Given the description of an element on the screen output the (x, y) to click on. 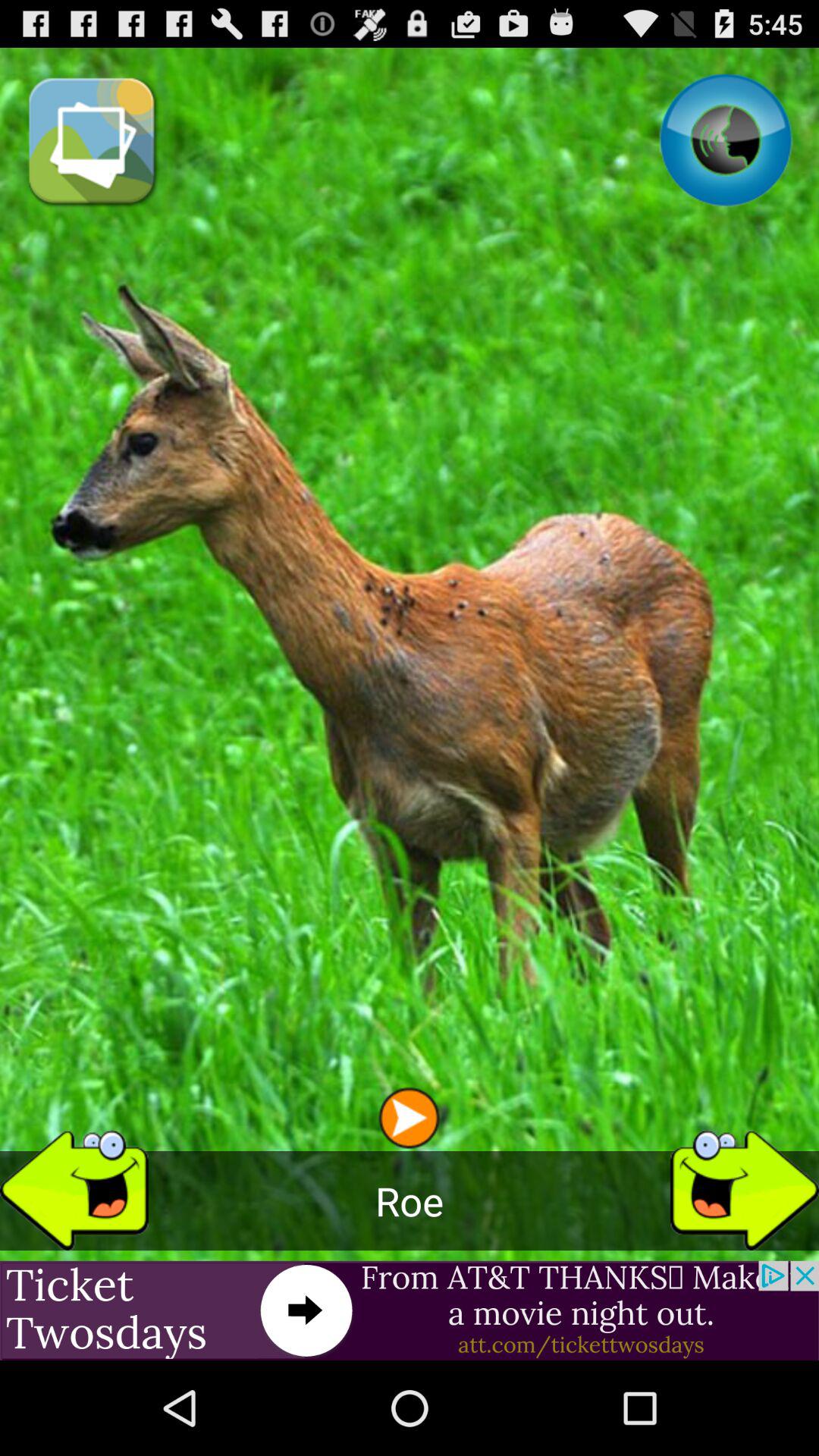
turn on the item below roe item (409, 1310)
